Given the description of an element on the screen output the (x, y) to click on. 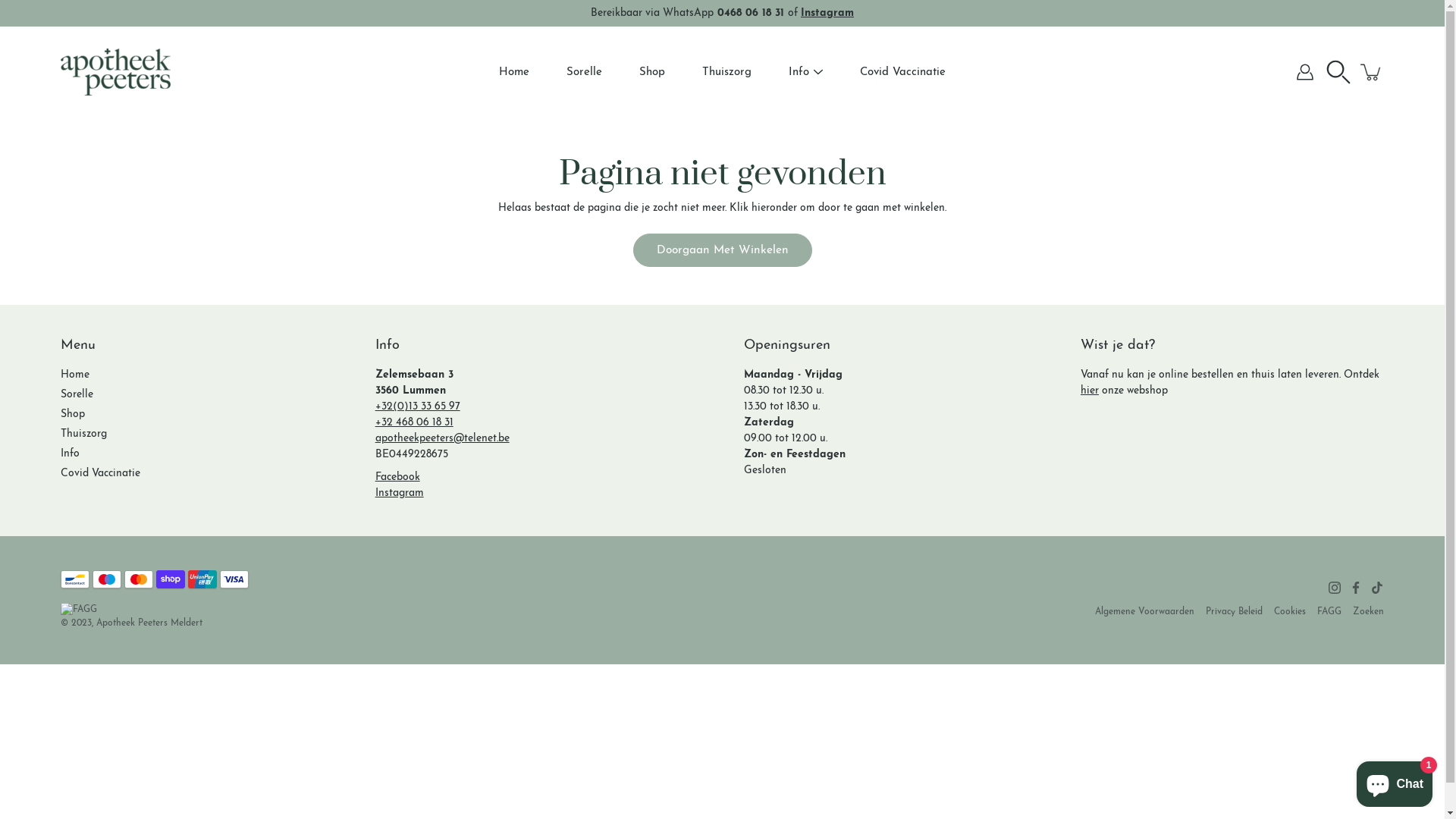
Sorelle Element type: text (76, 394)
Doorgaan Met Winkelen Element type: text (721, 249)
Info Element type: text (69, 453)
Instagram Element type: text (399, 492)
Instagram Element type: text (826, 12)
Facebook Element type: text (1355, 587)
Onlinewinkel-chat van Shopify Element type: hover (1394, 780)
Algemene Voorwaarden Element type: text (1144, 611)
Info Element type: text (798, 71)
Tiktok Element type: text (1376, 587)
+32(0)13 33 65 97 Element type: text (417, 406)
Cookies Element type: text (1289, 611)
Facebook Element type: text (397, 477)
Shop Element type: text (652, 71)
apotheekpeeters@telenet.be Element type: text (442, 438)
+32 468 06 18 31 Element type: text (414, 422)
Sorelle Element type: text (584, 71)
Shop Element type: text (72, 414)
Privacy Beleid Element type: text (1233, 611)
Thuiszorg Element type: text (726, 71)
Instagram Element type: text (1334, 587)
hier Element type: text (1089, 390)
Home Element type: text (513, 71)
FAGG Element type: text (1329, 611)
Zoeken Element type: text (1367, 611)
Covid Vaccinatie Element type: text (100, 473)
Home Element type: text (74, 374)
Thuiszorg Element type: text (83, 433)
Covid Vaccinatie Element type: text (902, 71)
